Given the description of an element on the screen output the (x, y) to click on. 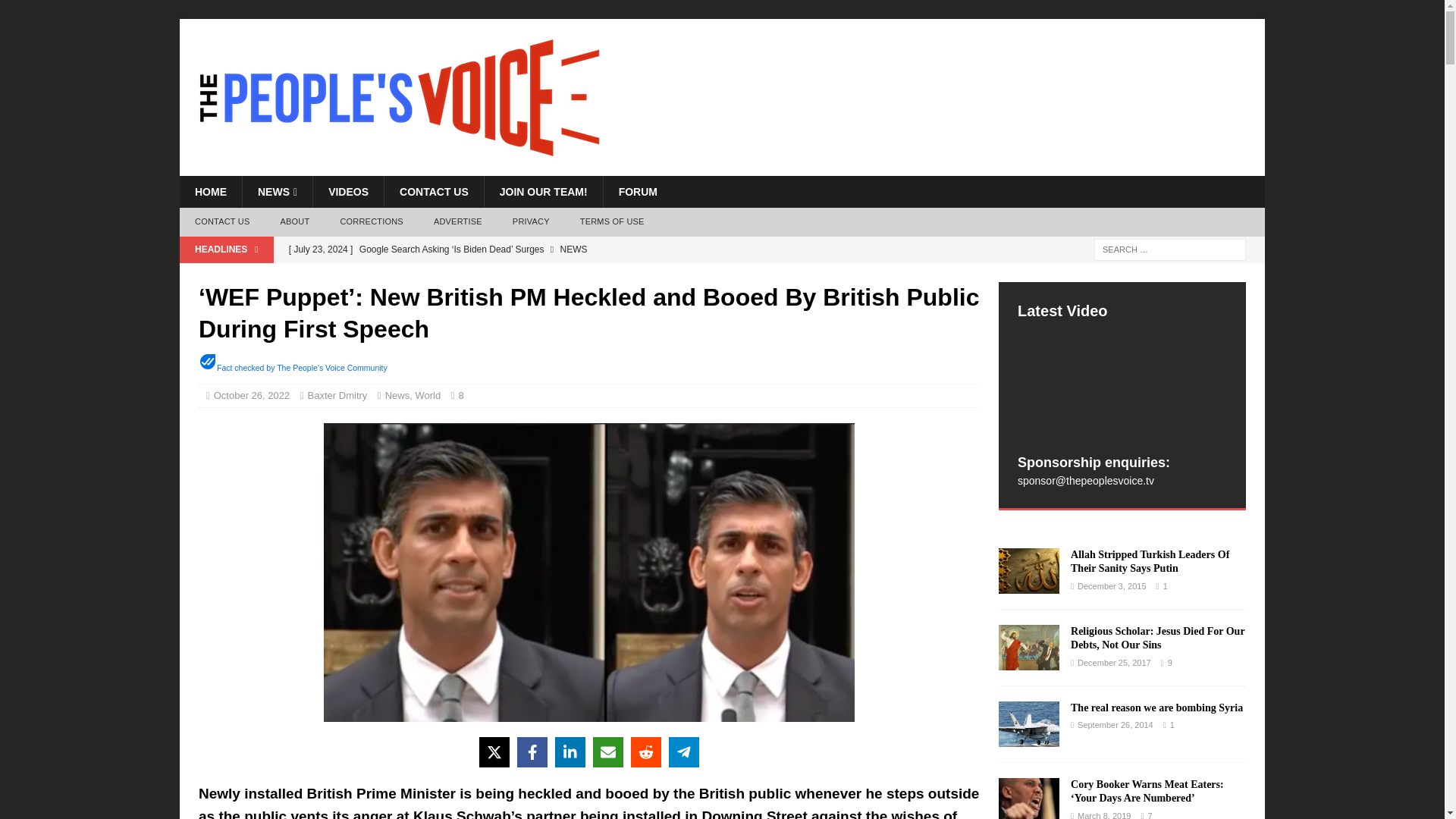
FORUM (637, 192)
JOIN OUR TEAM! (542, 192)
ABOUT (294, 222)
TERMS OF USE (611, 222)
NEWS (277, 192)
CORRECTIONS (370, 222)
CONTACT US (433, 192)
CONTACT US (221, 222)
PRIVACY (530, 222)
VIDEOS (348, 192)
HOME (210, 192)
ADVERTISE (458, 222)
